Given the description of an element on the screen output the (x, y) to click on. 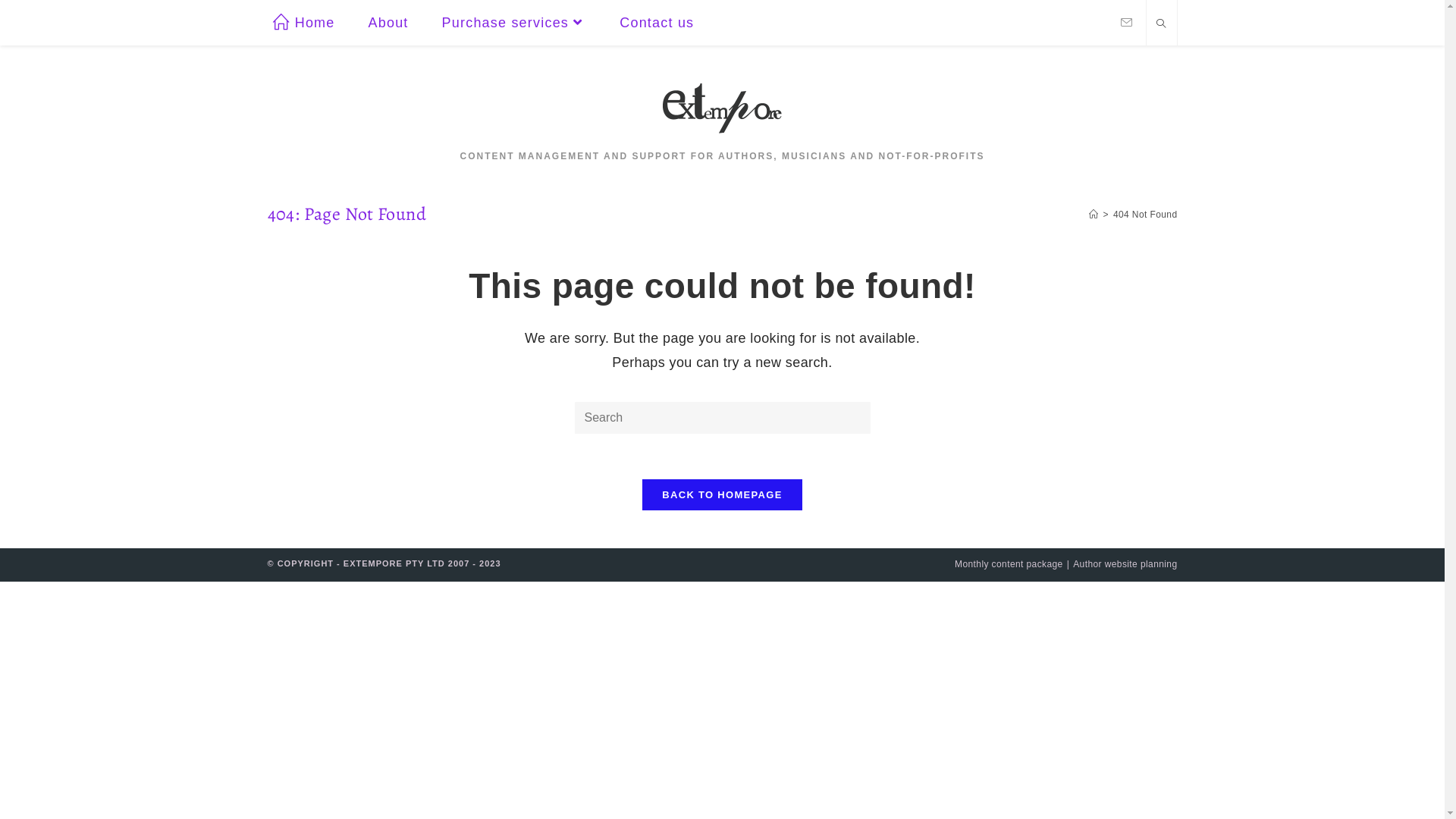
BACK TO HOMEPAGE Element type: text (721, 494)
Contact us Element type: text (656, 22)
404 Not Found Element type: text (1145, 214)
Purchase services Element type: text (514, 22)
Home Element type: text (303, 22)
About Element type: text (388, 22)
Author website planning Element type: text (1124, 563)
Monthly content package Element type: text (1008, 563)
